Given the description of an element on the screen output the (x, y) to click on. 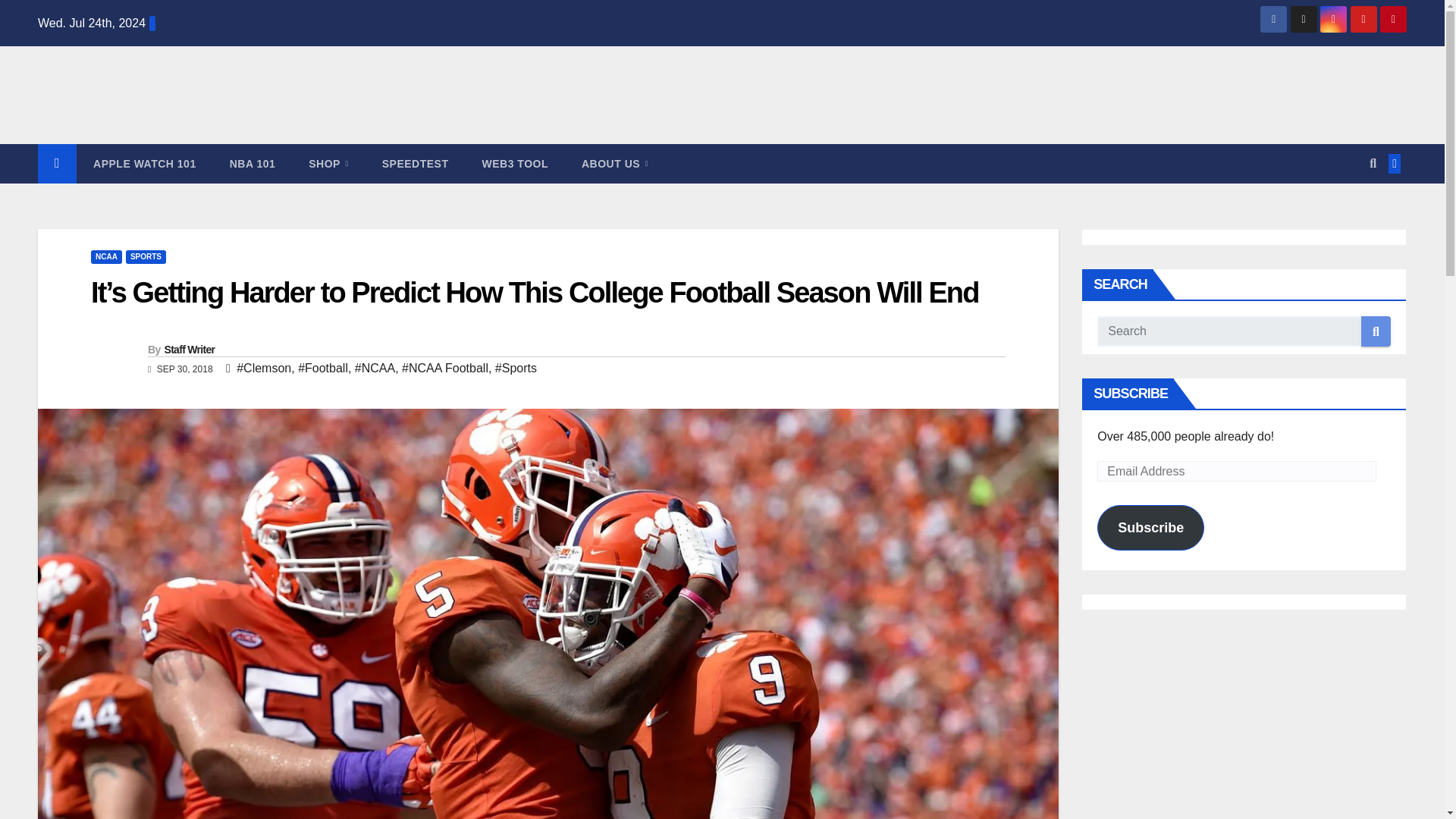
Shop (328, 163)
NCAA (106, 256)
NBA 101 (252, 163)
ABOUT US (614, 163)
Speedtest (415, 163)
SPEEDTEST (415, 163)
SPORTS (145, 256)
NBA 101 (252, 163)
WEB3 TOOL (514, 163)
About Us (614, 163)
APPLE WATCH 101 (144, 163)
Staff Writer (188, 349)
SHOP (328, 163)
Apple Watch 101 (144, 163)
Web3 Tool (514, 163)
